Given the description of an element on the screen output the (x, y) to click on. 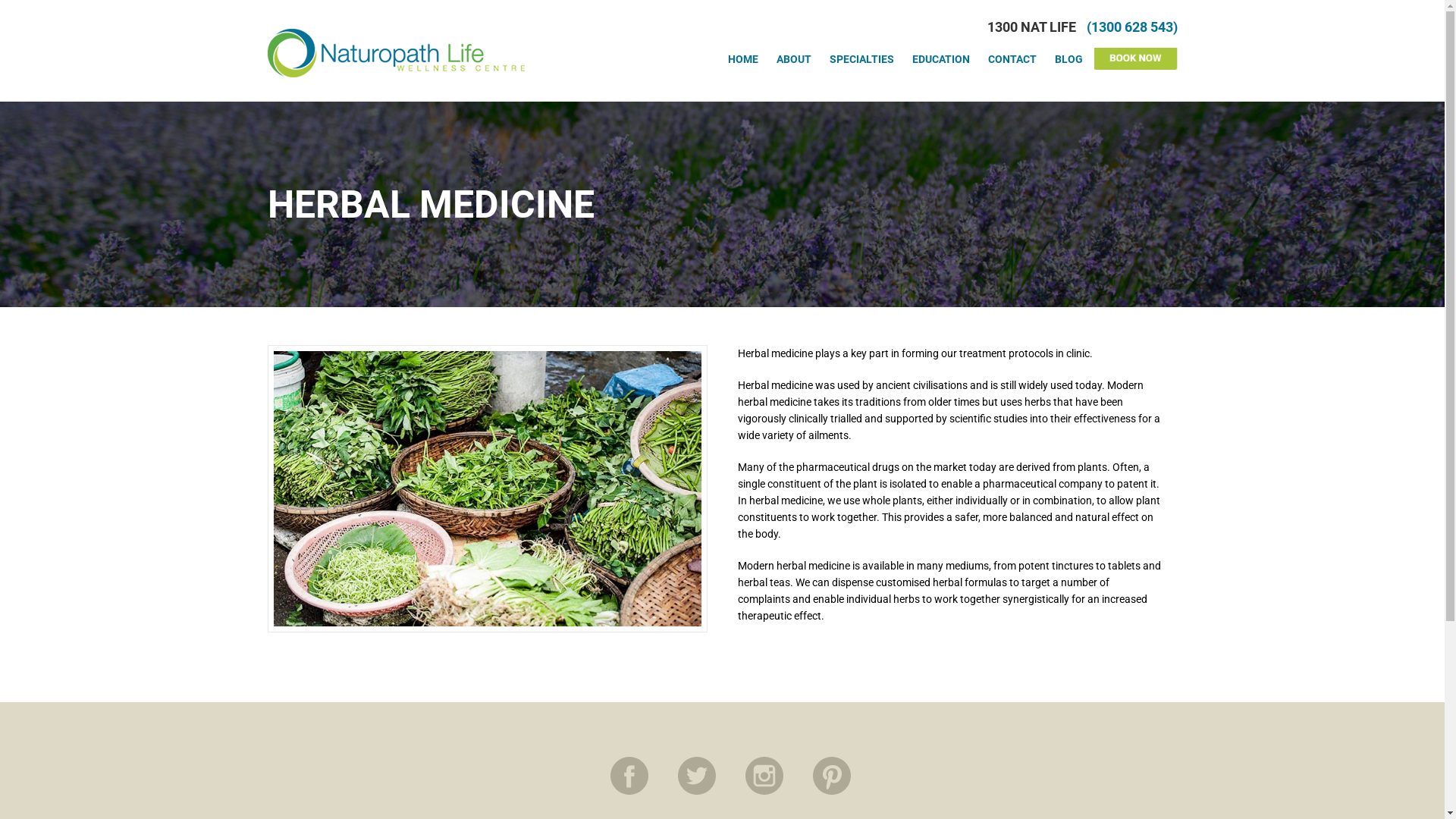
Herbal-Medicine-Revised Element type: hover (486, 488)
ABOUT Element type: text (793, 58)
CONTACT Element type: text (1011, 58)
SPECIALTIES Element type: text (861, 58)
EDUCATION Element type: text (940, 58)
(1300 628 543) Element type: text (1130, 26)
BLOG Element type: text (1068, 58)
Skip to content Element type: text (0, 3)
HOME Element type: text (743, 58)
